Given the description of an element on the screen output the (x, y) to click on. 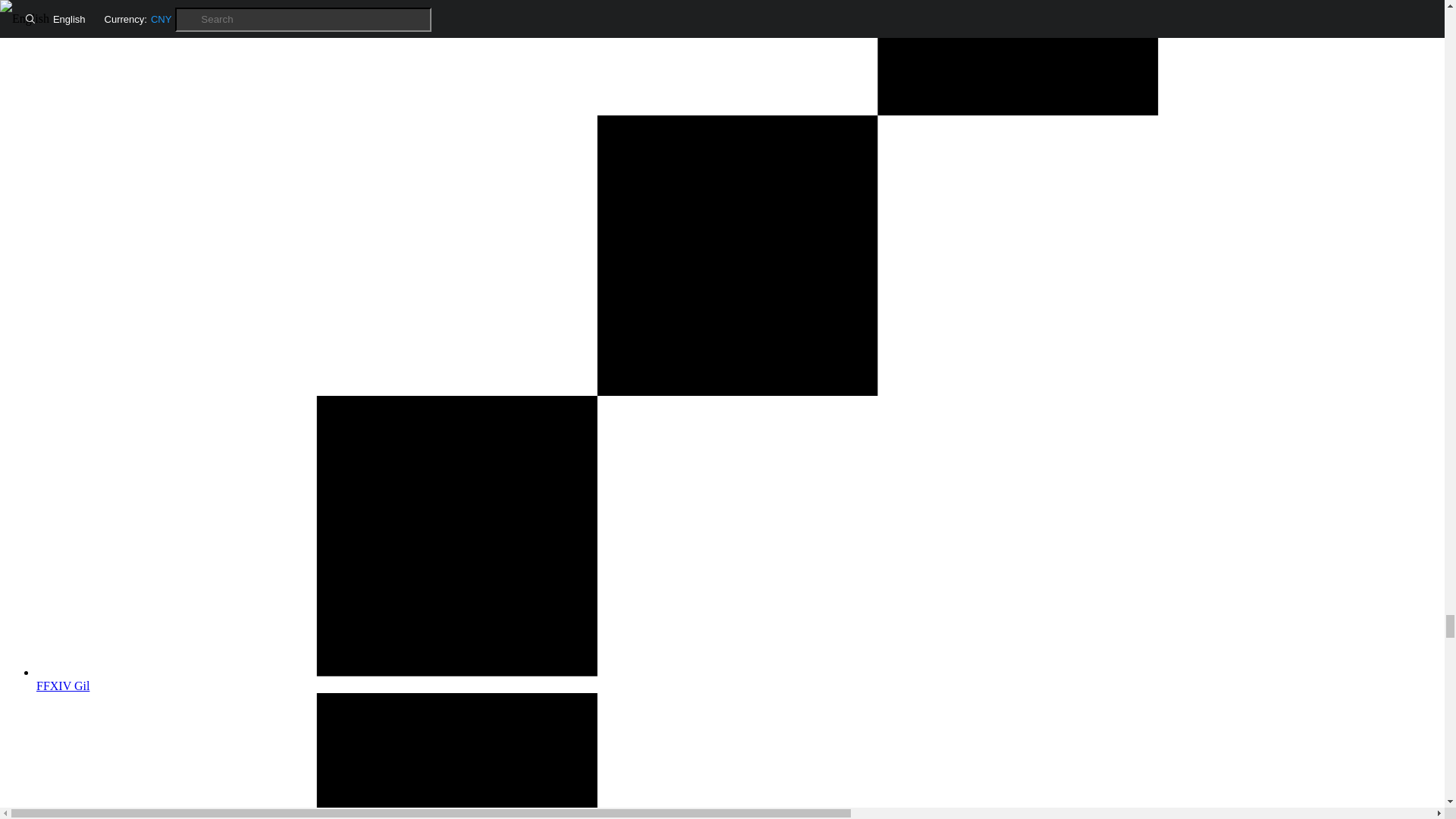
FFXIV Gil (737, 678)
